Given the description of an element on the screen output the (x, y) to click on. 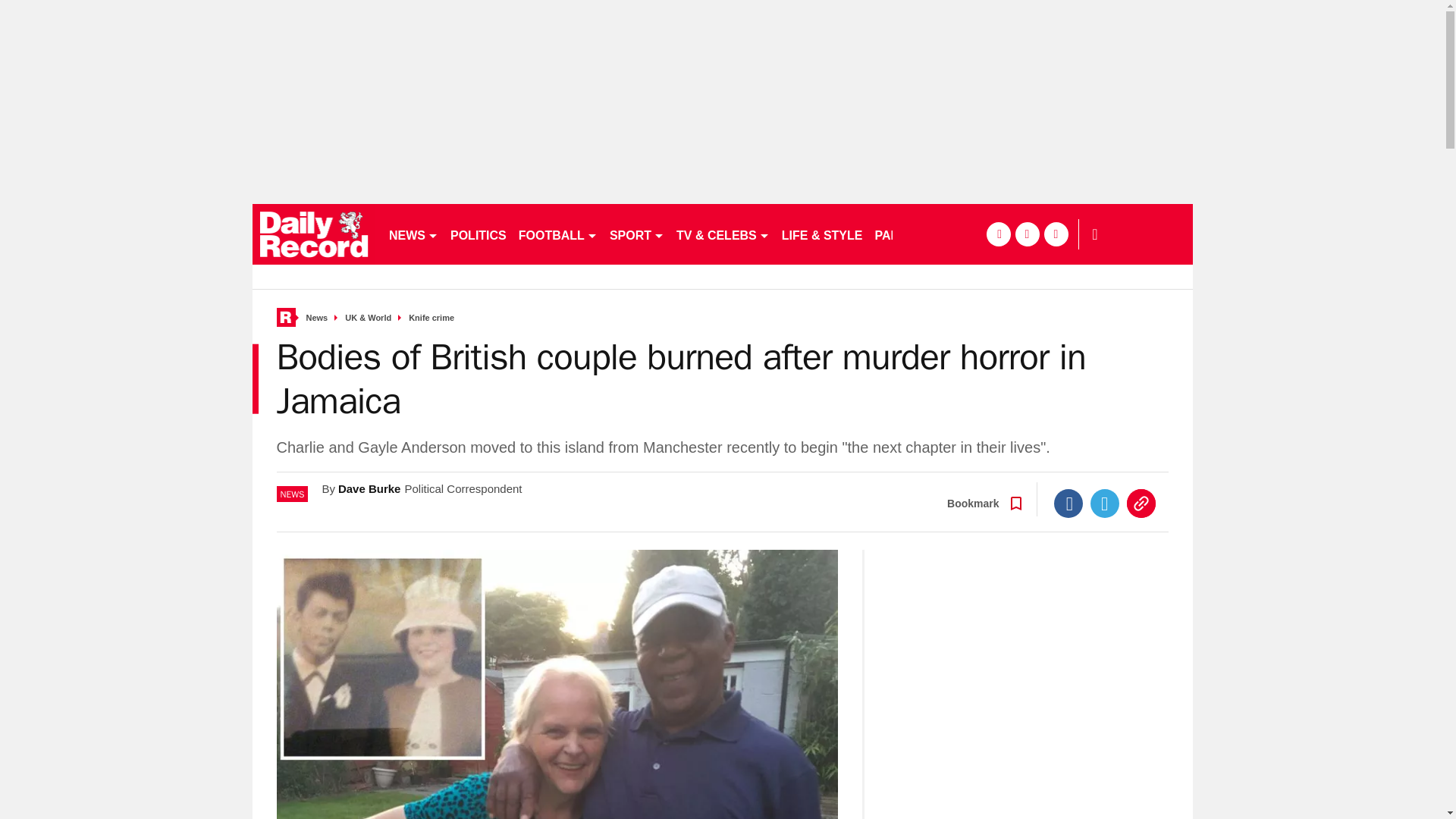
dailyrecord (313, 233)
FOOTBALL (558, 233)
SPORT (636, 233)
Twitter (1104, 502)
POLITICS (478, 233)
NEWS (413, 233)
instagram (1055, 233)
twitter (1026, 233)
facebook (997, 233)
Facebook (1068, 502)
